Given the description of an element on the screen output the (x, y) to click on. 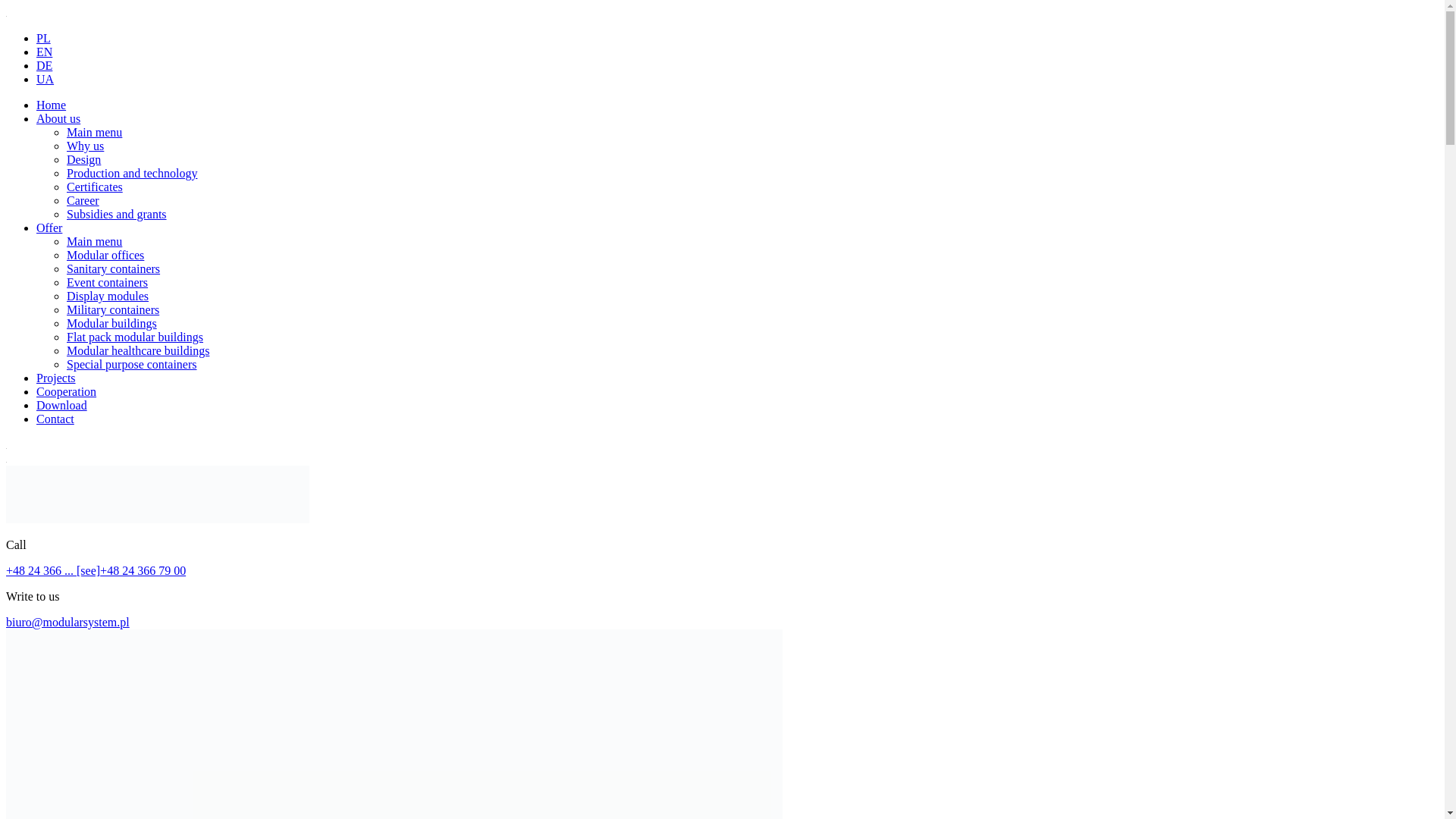
Career (82, 200)
Sanitary containers (113, 268)
Cooperation (66, 391)
DE (44, 65)
PL (43, 38)
UA (44, 78)
Subsidies and grants (116, 214)
Production and technology (131, 173)
Design (83, 159)
Contact (55, 418)
